Given the description of an element on the screen output the (x, y) to click on. 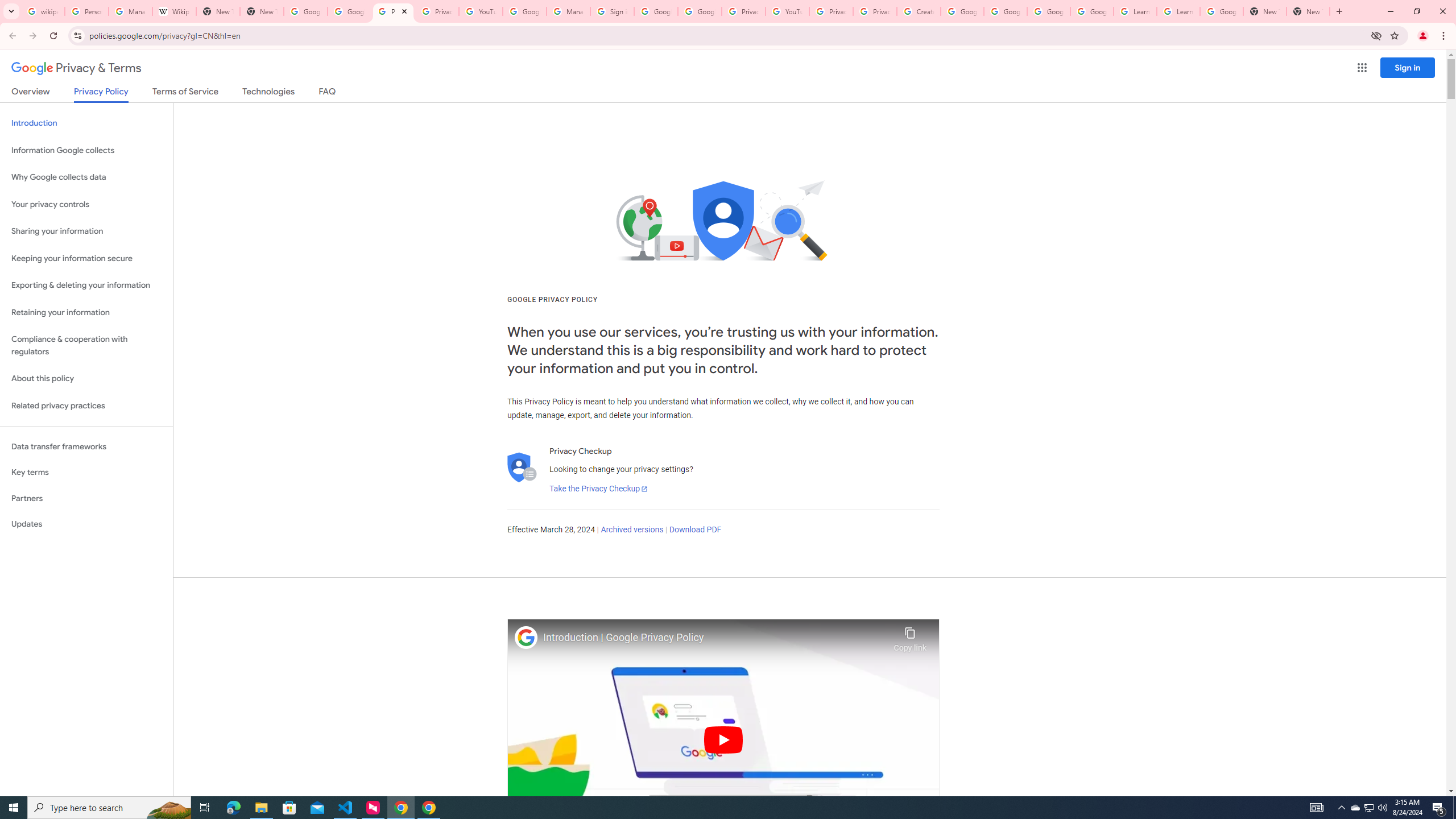
Personalization & Google Search results - Google Search Help (86, 11)
Create your Google Account (918, 11)
Manage your Location History - Google Search Help (130, 11)
